Given the description of an element on the screen output the (x, y) to click on. 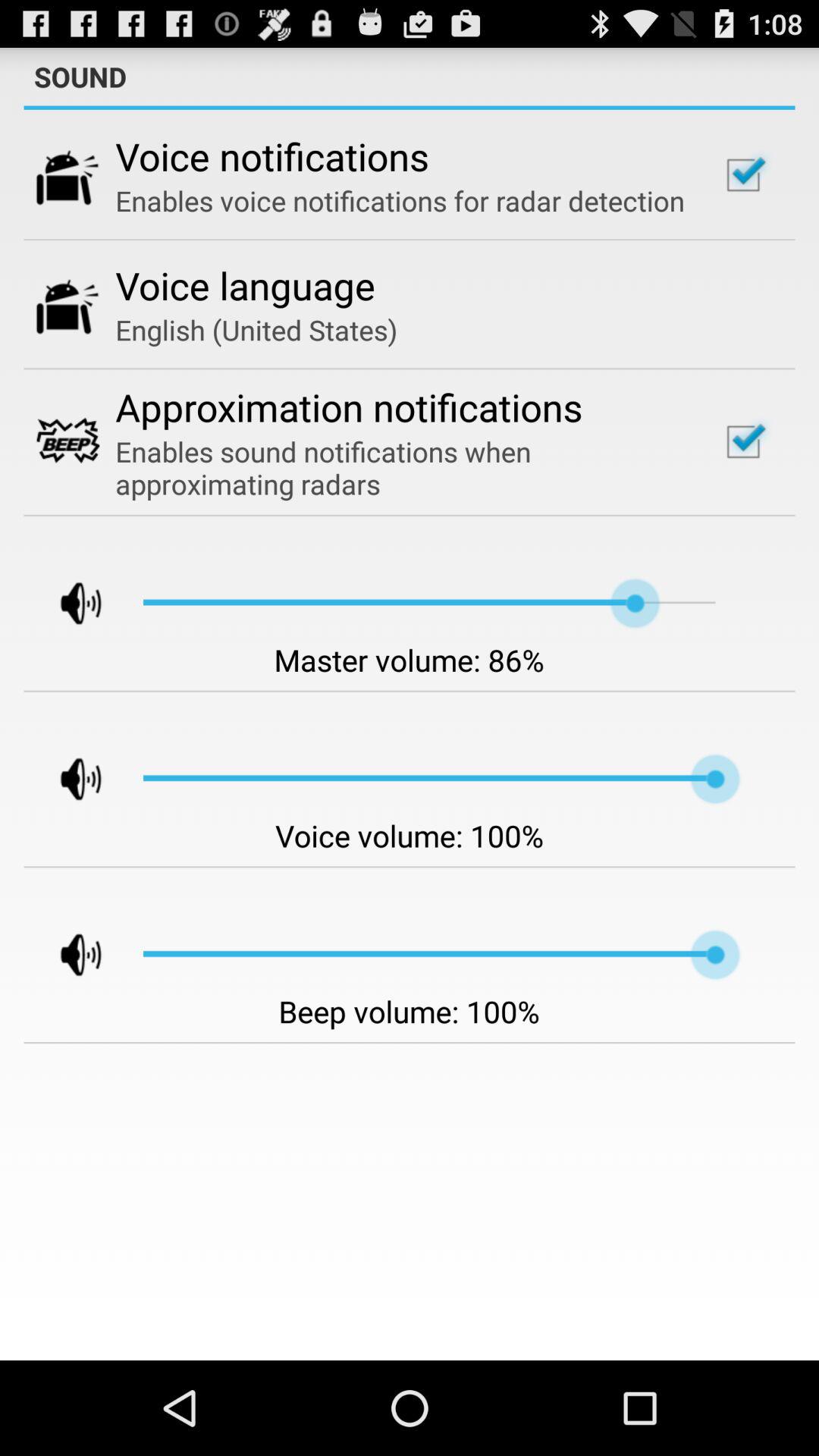
scroll to english (united states) (256, 329)
